Given the description of an element on the screen output the (x, y) to click on. 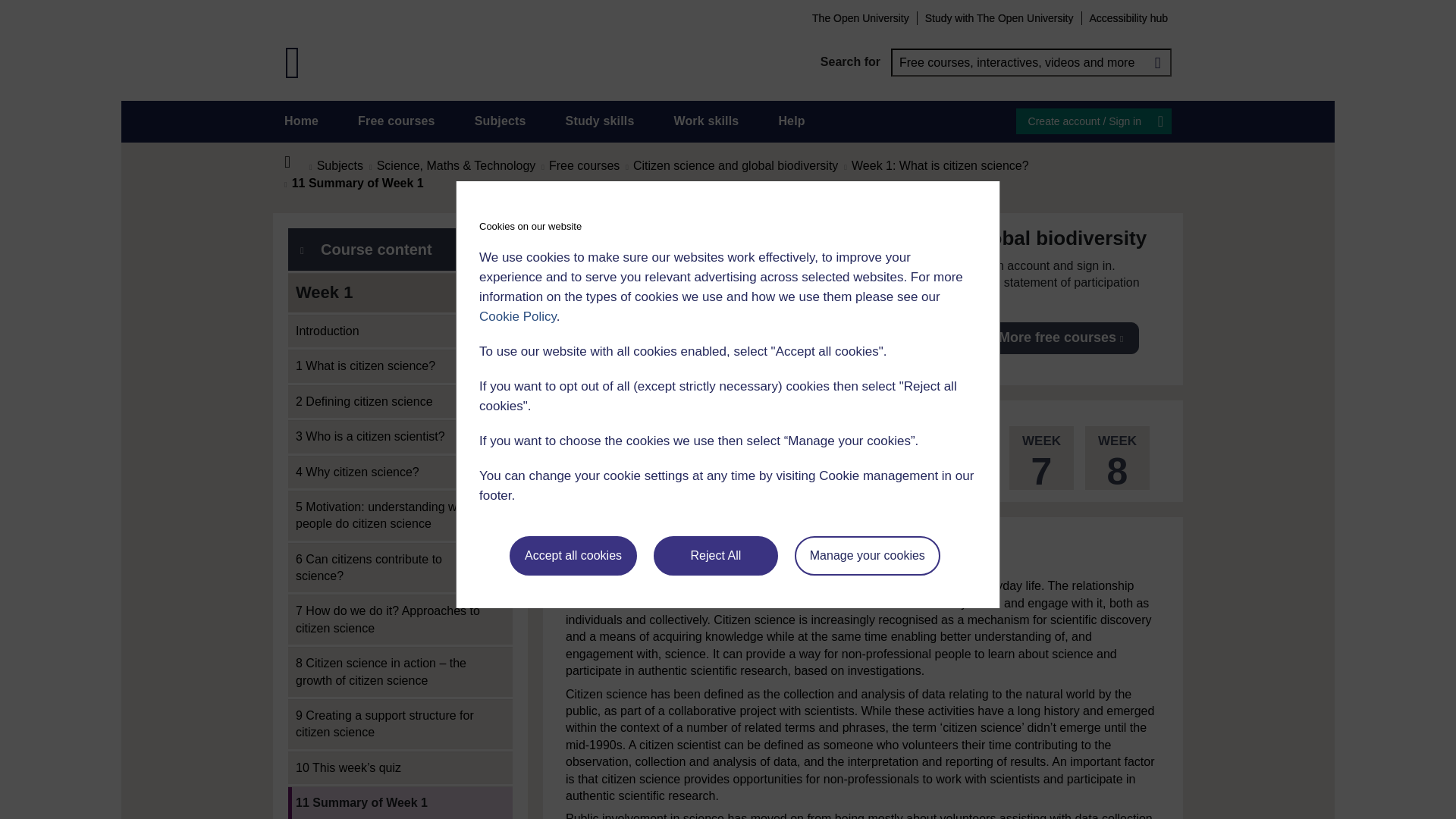
Work skills (705, 120)
Home (300, 120)
The Open University (860, 17)
Home (295, 162)
Free courses (396, 120)
Study with The Open University (999, 17)
Reject All (715, 555)
Search (1157, 62)
Accessibility hub (1129, 17)
Manage your cookies (867, 555)
Subjects (499, 120)
Accept all cookies (573, 555)
Study skills (600, 120)
Cookie Policy (517, 316)
Help (791, 120)
